Given the description of an element on the screen output the (x, y) to click on. 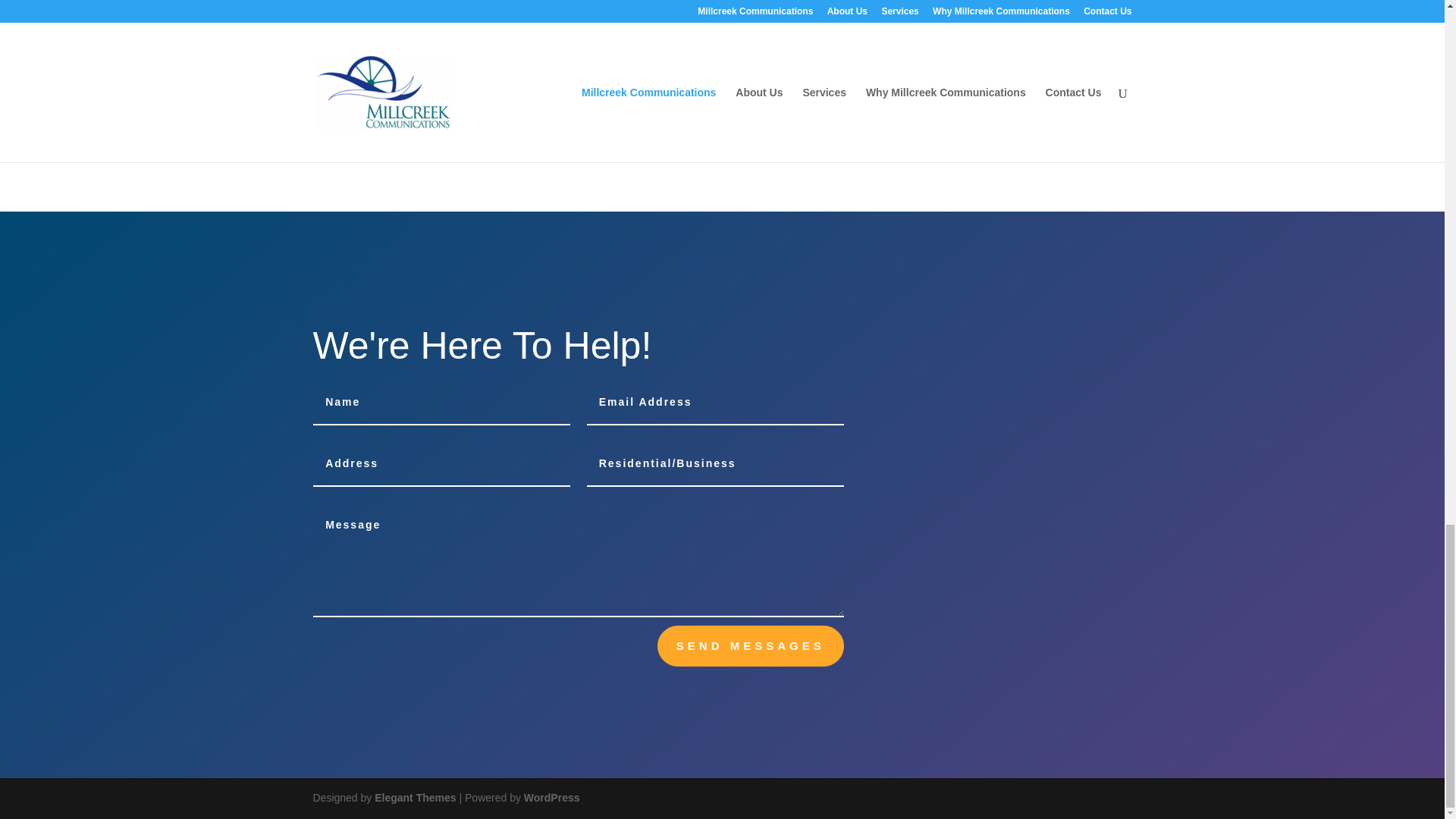
Premium WordPress Themes (414, 797)
SEND MESSAGES (751, 646)
WordPress (551, 797)
Elegant Themes (414, 797)
